Given the description of an element on the screen output the (x, y) to click on. 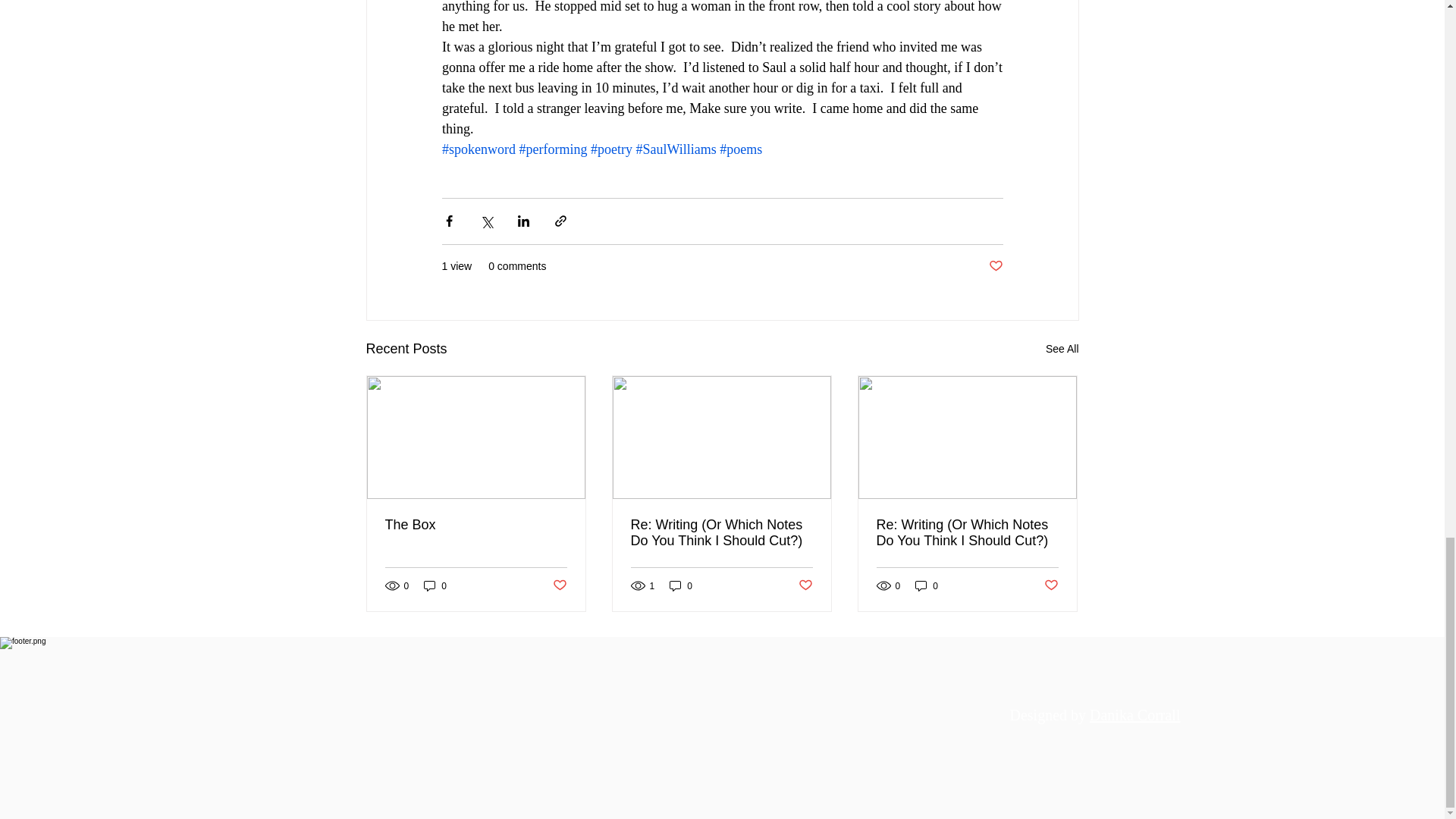
Post not marked as liked (995, 266)
0 (435, 585)
Danika Corrall (1134, 713)
0 (681, 585)
0 (926, 585)
Post not marked as liked (1050, 585)
Post not marked as liked (558, 585)
Post not marked as liked (804, 585)
See All (1061, 348)
The Box (476, 524)
